Given the description of an element on the screen output the (x, y) to click on. 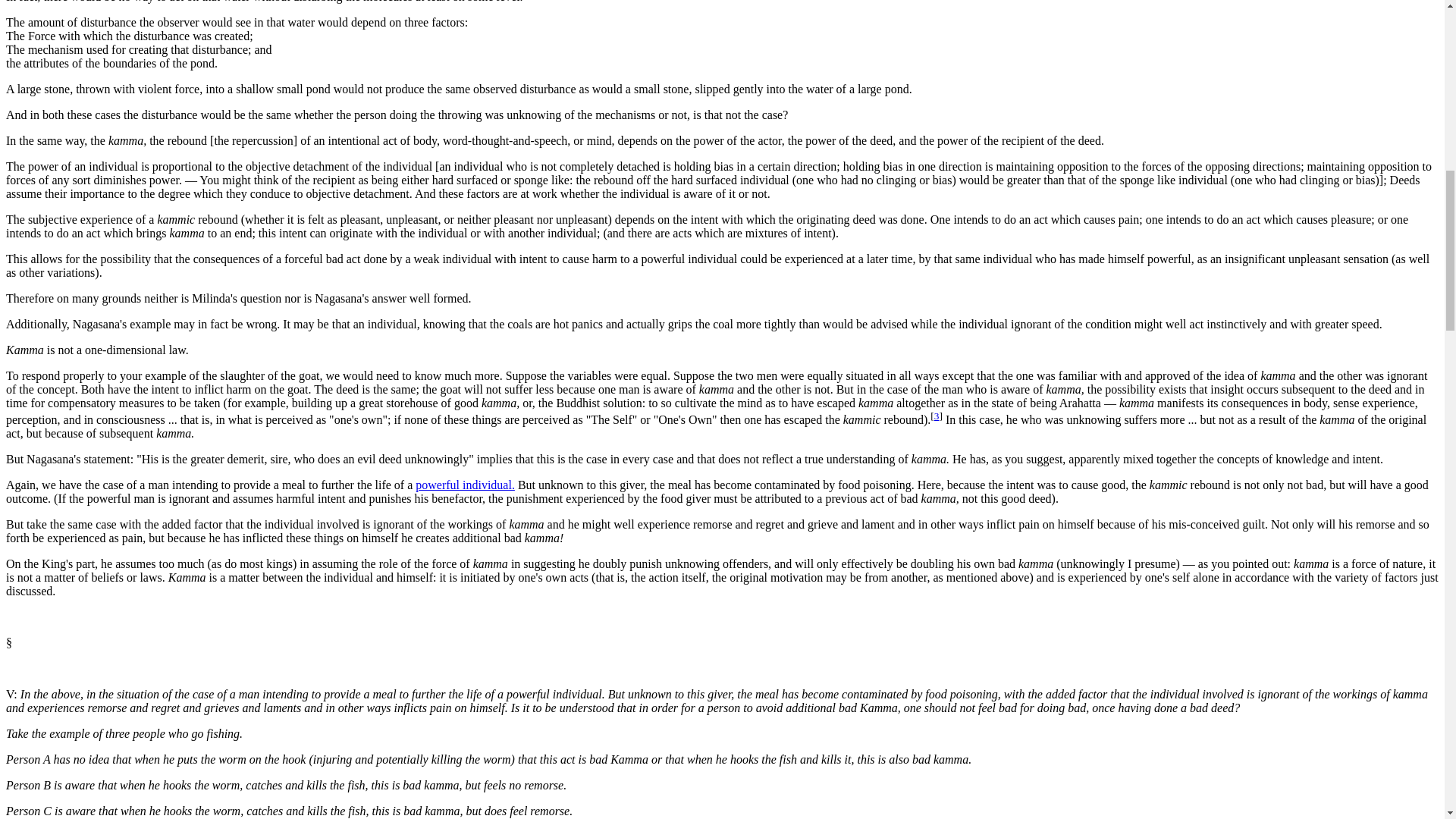
3 (936, 415)
powerful individual. (464, 484)
